Given the description of an element on the screen output the (x, y) to click on. 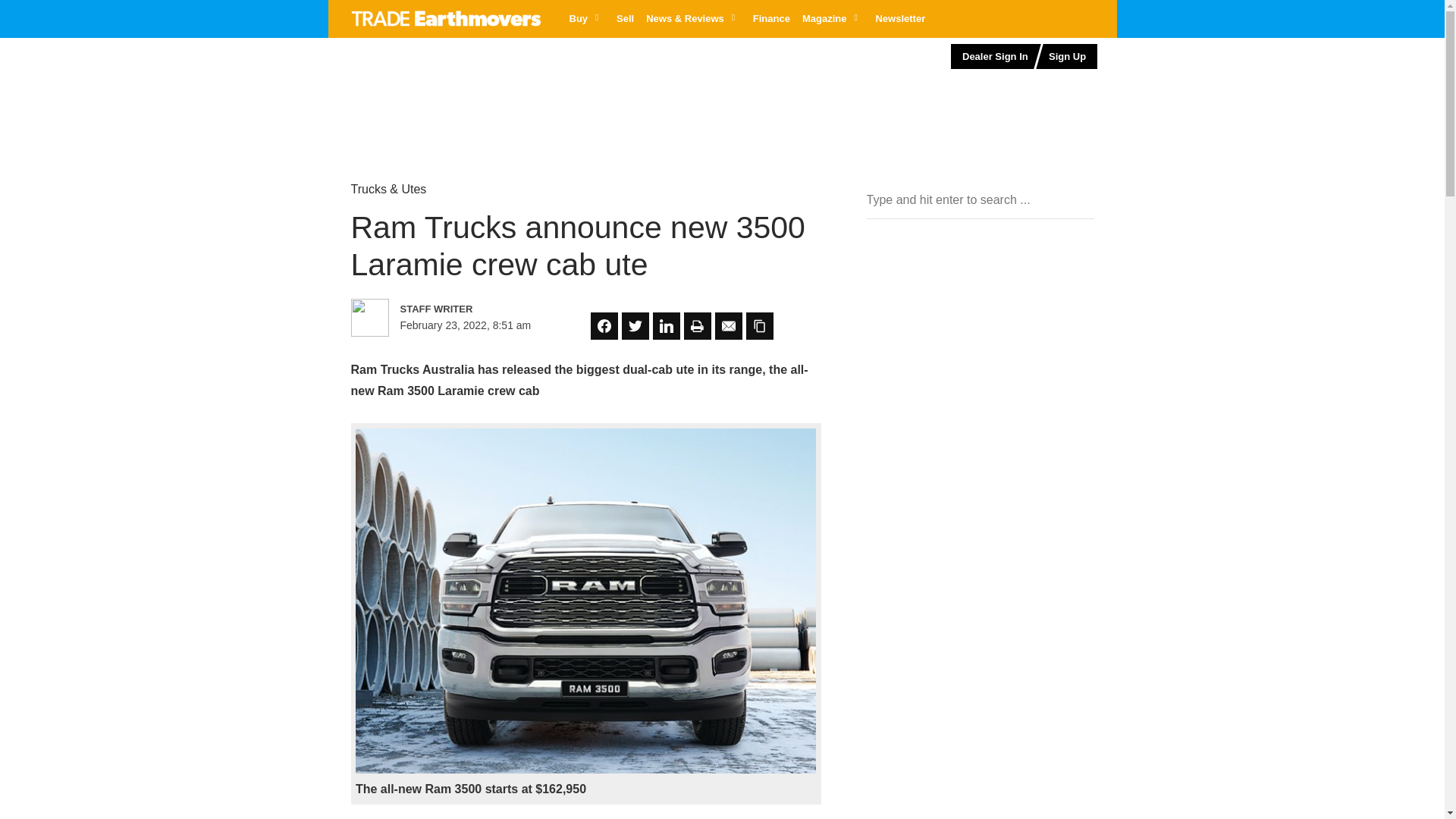
Share on Twitter (635, 325)
Share on LinkedIn (665, 325)
Share on Email (728, 325)
Share on Facebook (604, 325)
3rd party ad content (459, 87)
View all posts by Staff Writer (465, 308)
Type and hit enter to search ... (979, 200)
Type and hit enter to search ... (979, 200)
Buy (586, 18)
Sell (625, 18)
Share on Print (697, 325)
Share on Copy Link (759, 325)
